Given the description of an element on the screen output the (x, y) to click on. 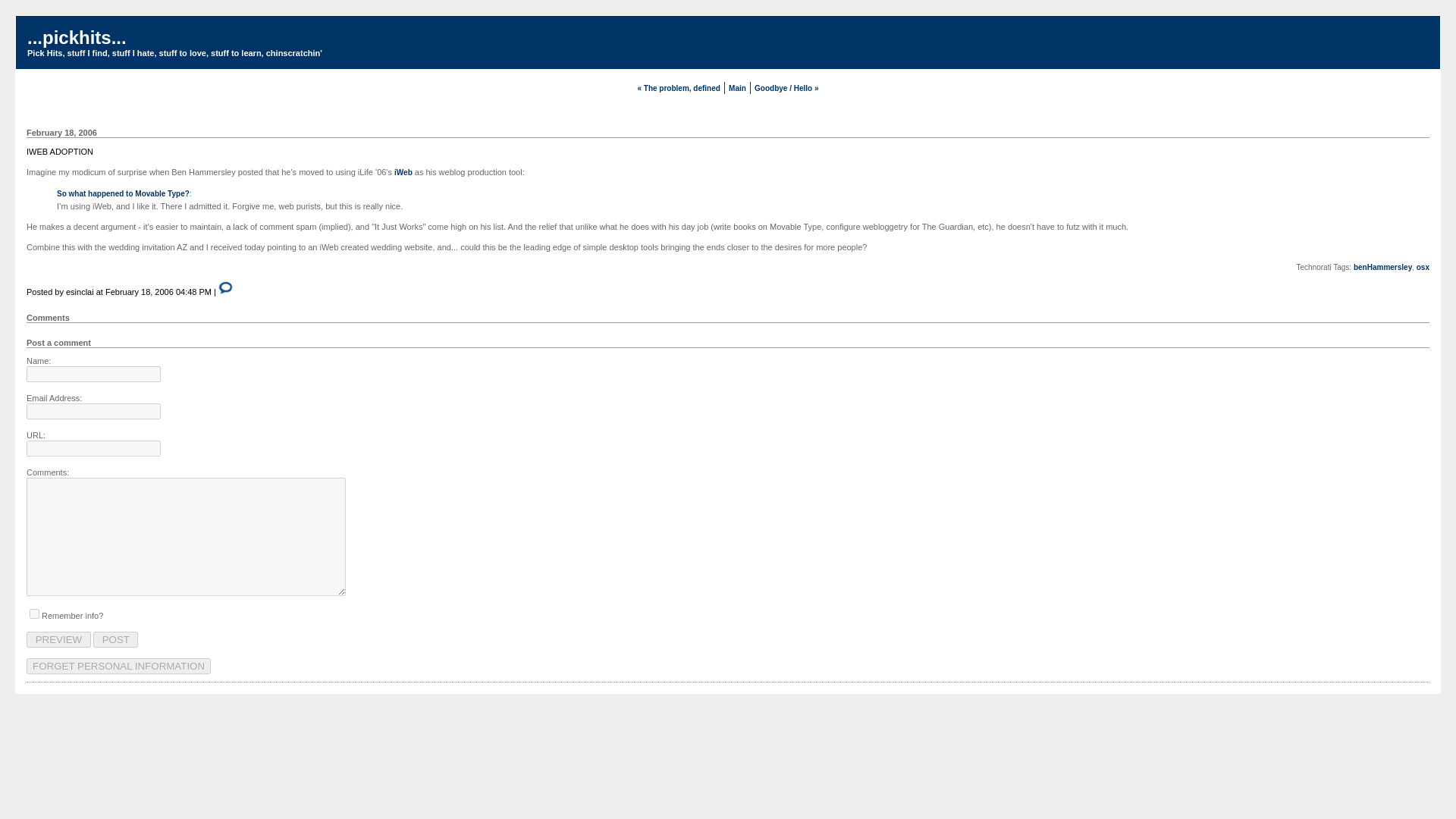
iWeb (403, 172)
FORGET PERSONAL INFORMATION (118, 666)
on (34, 614)
Main (737, 88)
benHammersley (1383, 266)
So what happened to Movable Type? (122, 193)
